Given the description of an element on the screen output the (x, y) to click on. 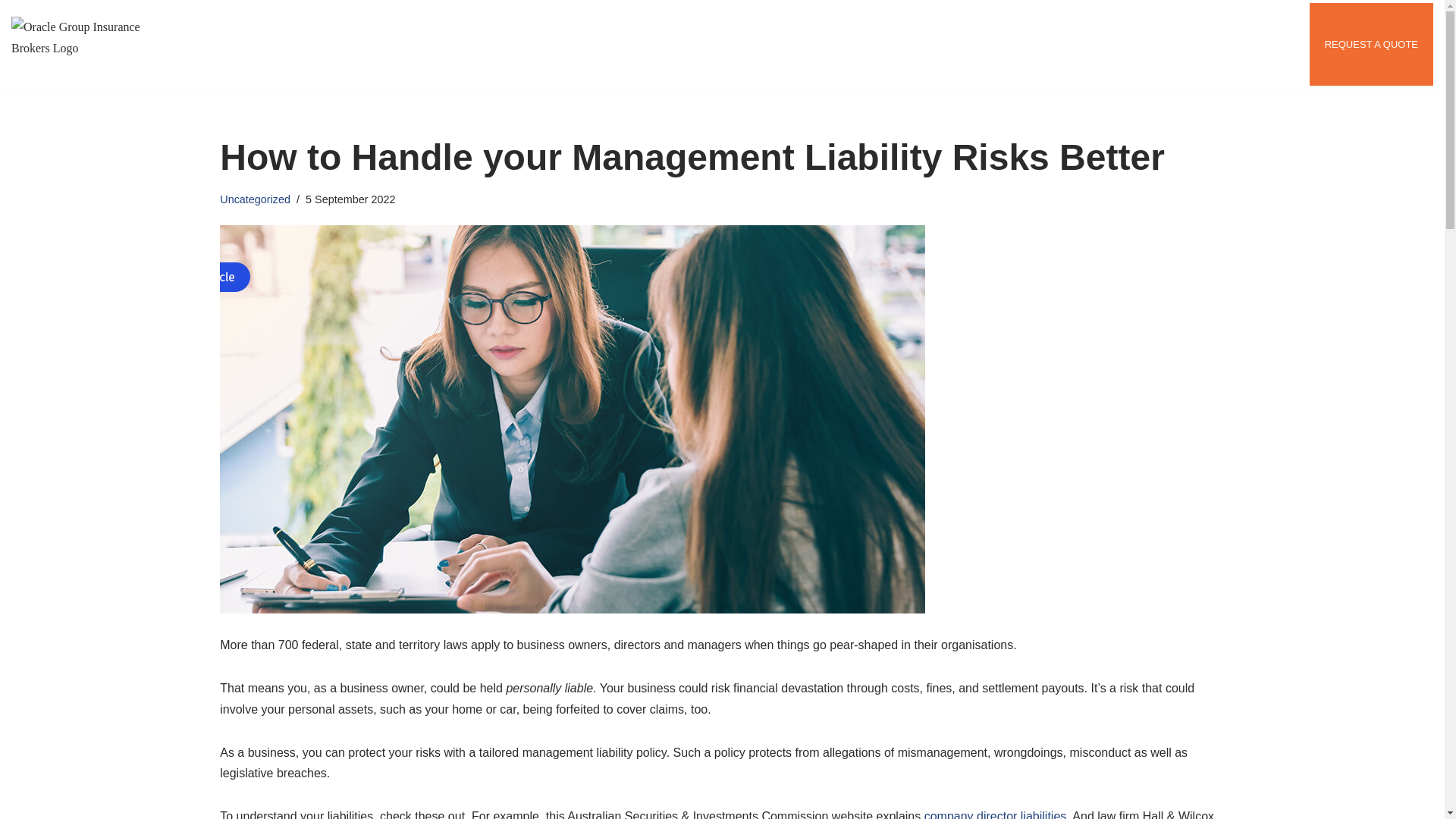
REQUEST A QUOTE (1370, 44)
Oracle Group Insurance Brokers (90, 44)
Skip to content (11, 31)
